Given the description of an element on the screen output the (x, y) to click on. 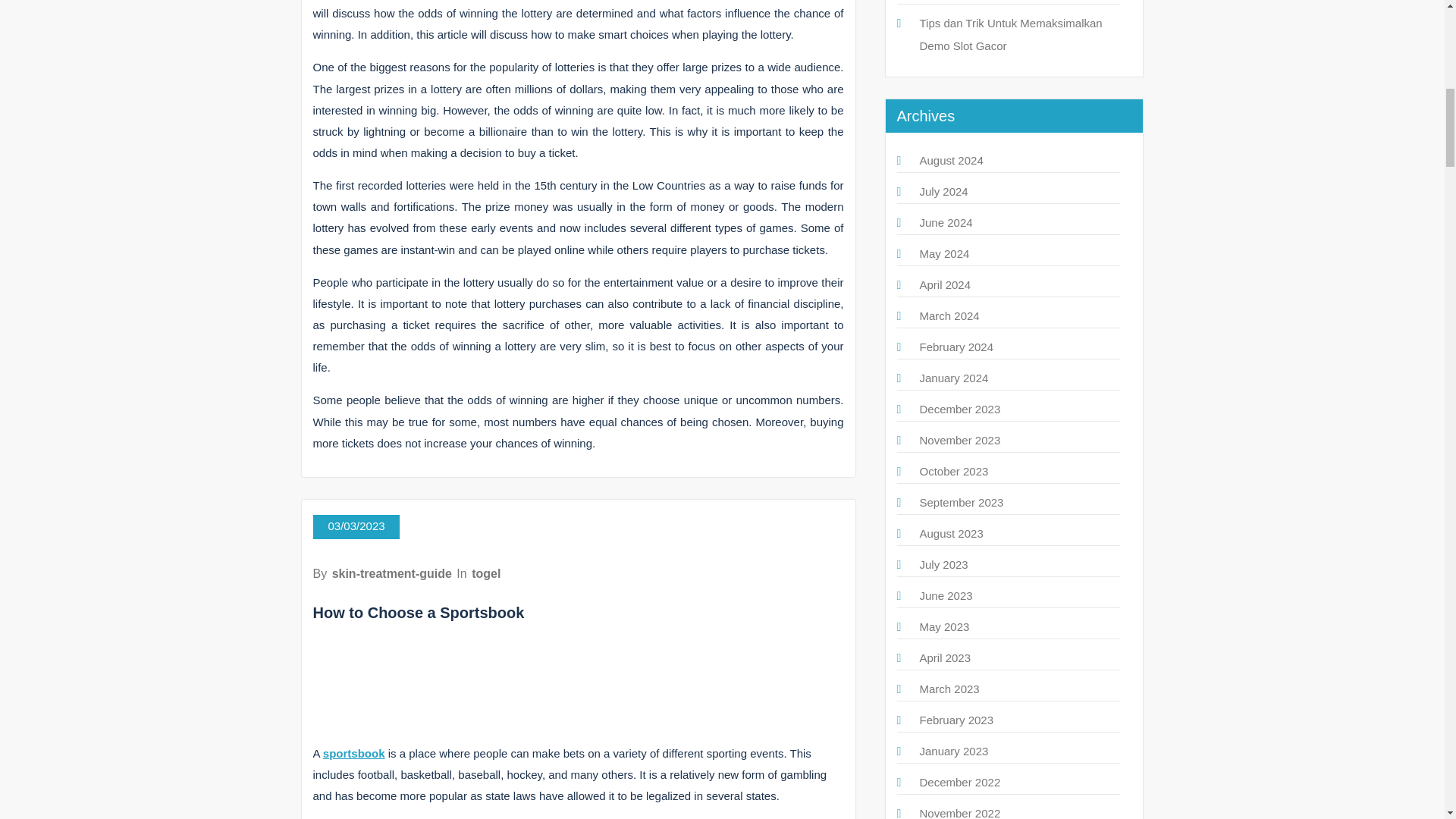
togel (486, 573)
sportsbook (354, 753)
skin-treatment-guide (391, 573)
How to Choose a Sportsbook (418, 612)
